Given the description of an element on the screen output the (x, y) to click on. 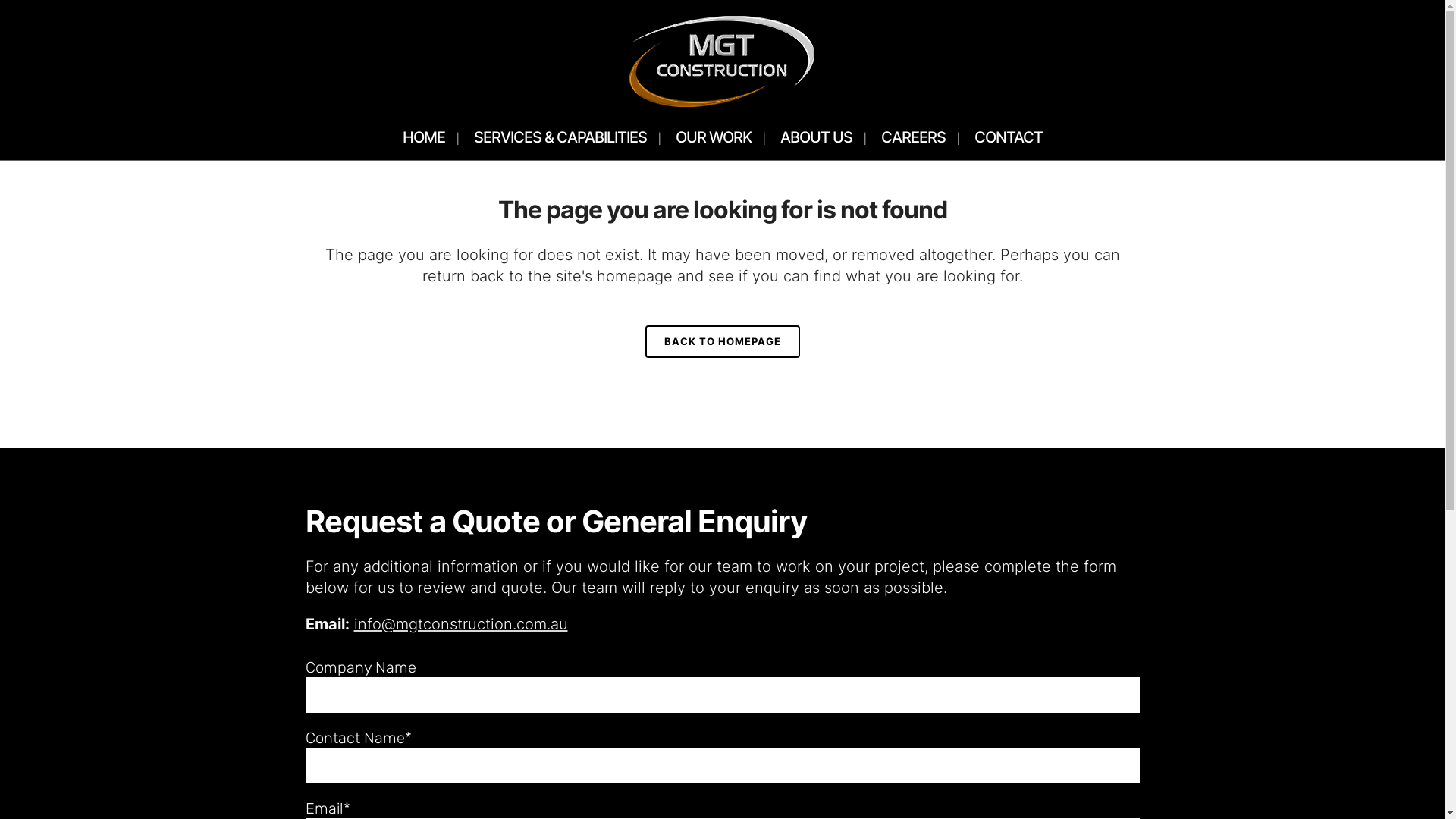
HOME Element type: text (423, 137)
ABOUT US Element type: text (816, 137)
BACK TO HOMEPAGE Element type: text (721, 341)
CONTACT Element type: text (1008, 137)
CAREERS Element type: text (912, 137)
info@mgtconstruction.com.au Element type: text (460, 624)
OUR WORK Element type: text (713, 137)
SERVICES & CAPABILITIES Element type: text (560, 137)
